Given the description of an element on the screen output the (x, y) to click on. 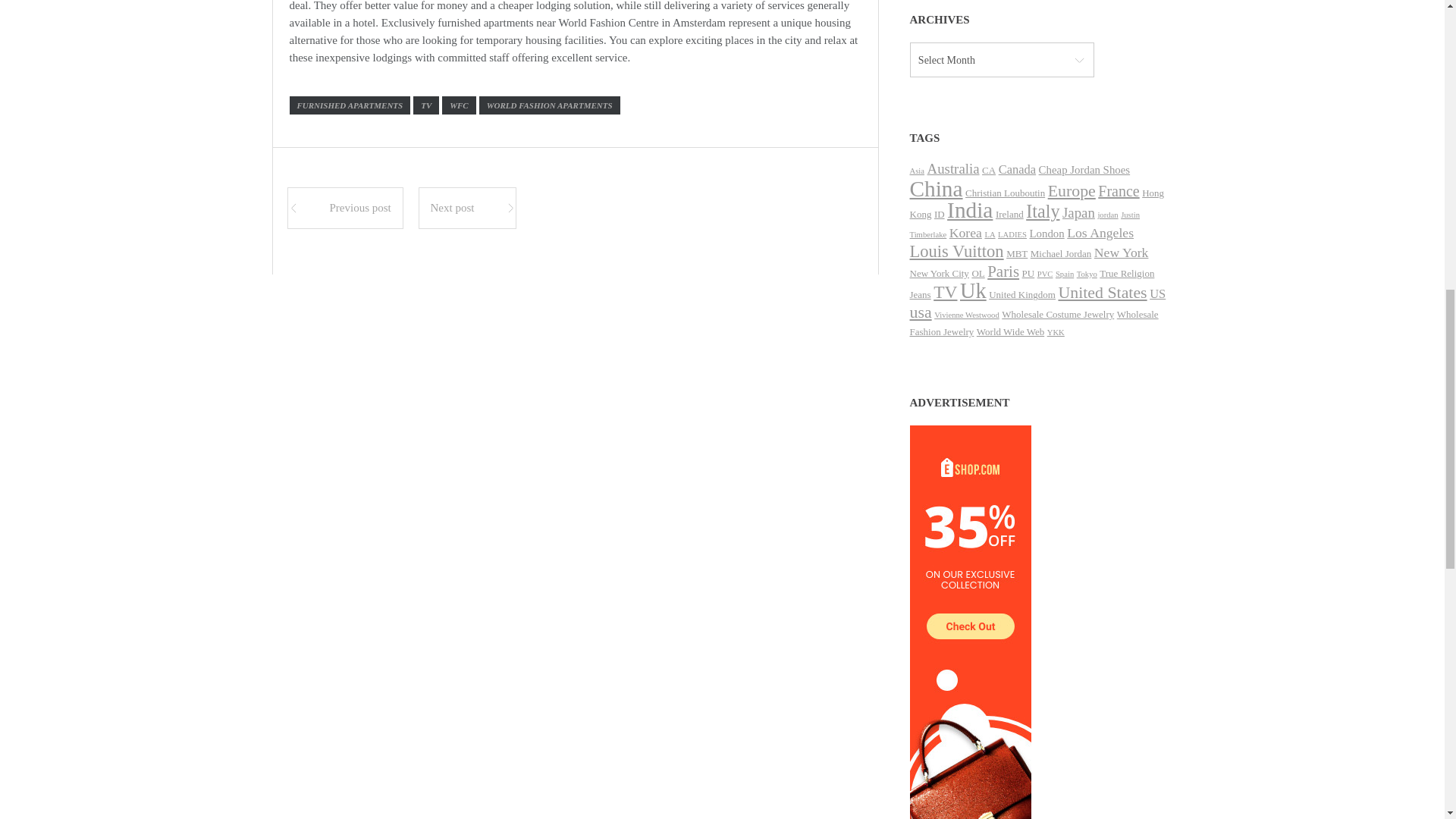
China (936, 188)
Christian Louboutin (1005, 193)
WORLD FASHION APARTMENTS (549, 105)
Cheap Jordan Shoes (1085, 169)
ID (939, 214)
FURNISHED APARTMENTS (349, 105)
Previous post (344, 208)
TV (426, 105)
Australia (953, 168)
France (1117, 190)
Next post (467, 208)
Europe (1072, 190)
WFC (459, 105)
Canada (1016, 169)
CA (988, 170)
